Given the description of an element on the screen output the (x, y) to click on. 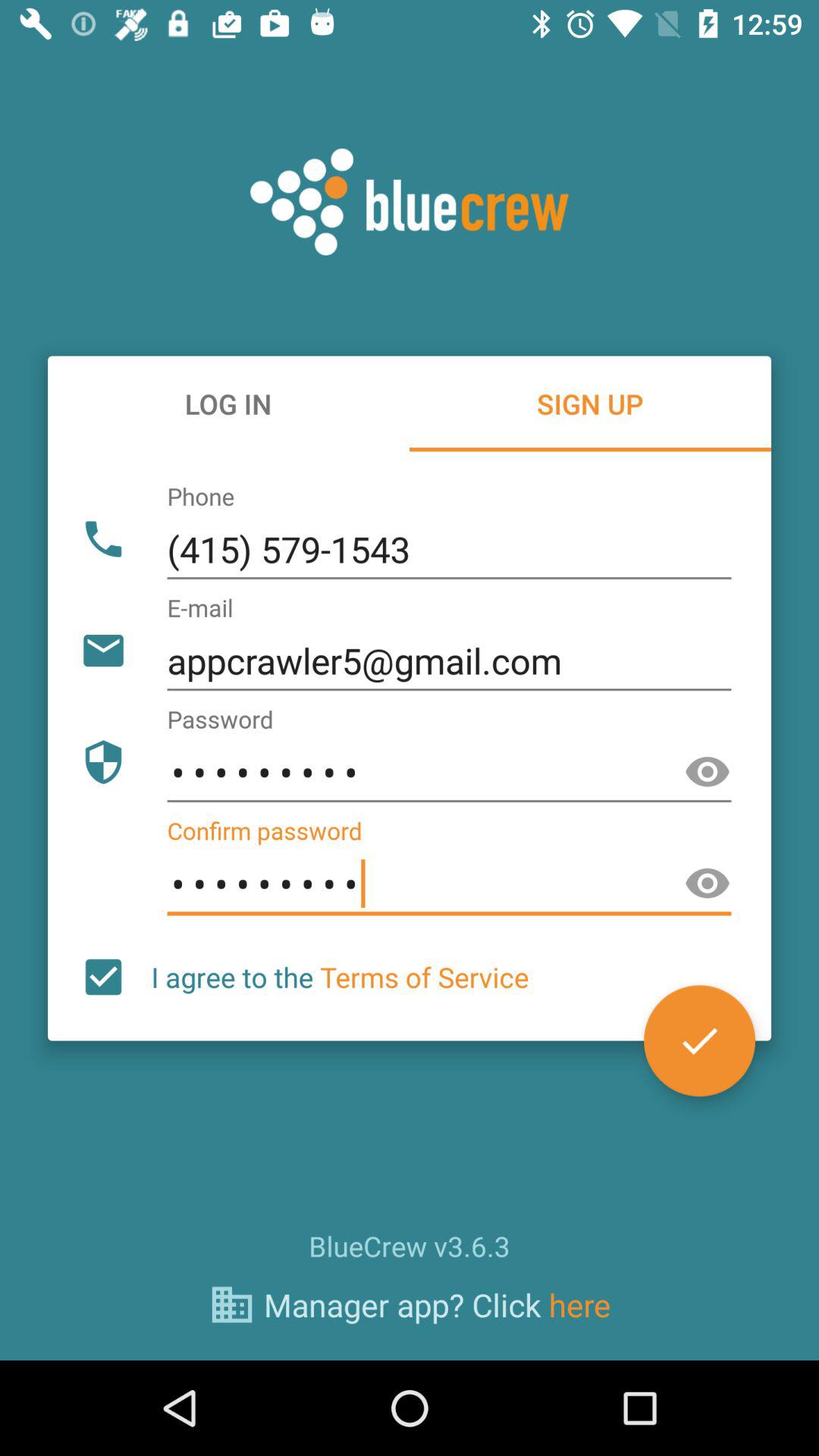
submit (699, 1040)
